Given the description of an element on the screen output the (x, y) to click on. 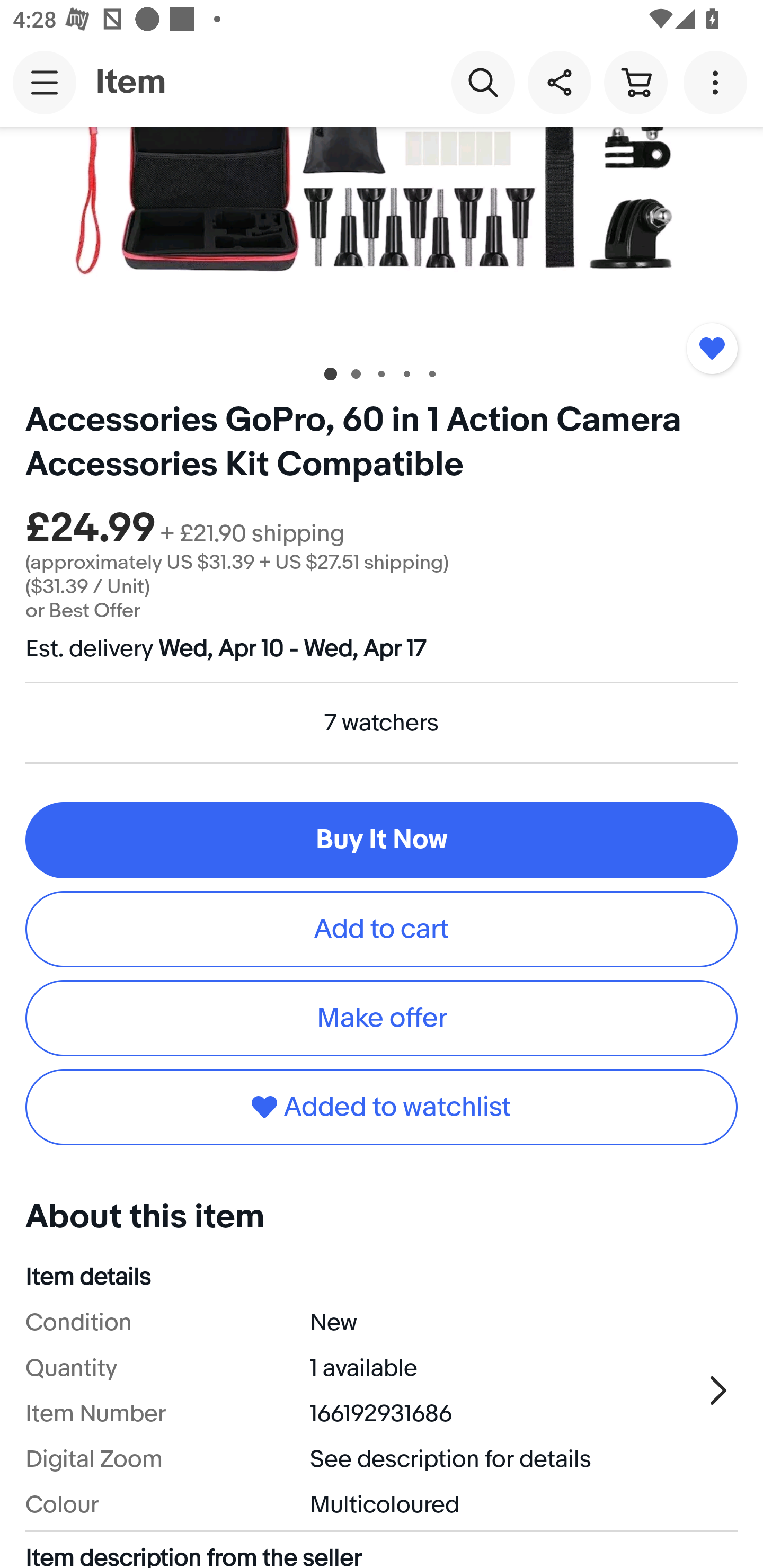
Main navigation, open (44, 82)
Search (482, 81)
Share this item (559, 81)
Cart button shopping cart (635, 81)
More options (718, 81)
Item image 1 of 6 (381, 237)
Added to watchlist (711, 348)
Buy It Now (381, 839)
Add to cart (381, 928)
Make offer (381, 1018)
Added to watchlist (381, 1106)
